Given the description of an element on the screen output the (x, y) to click on. 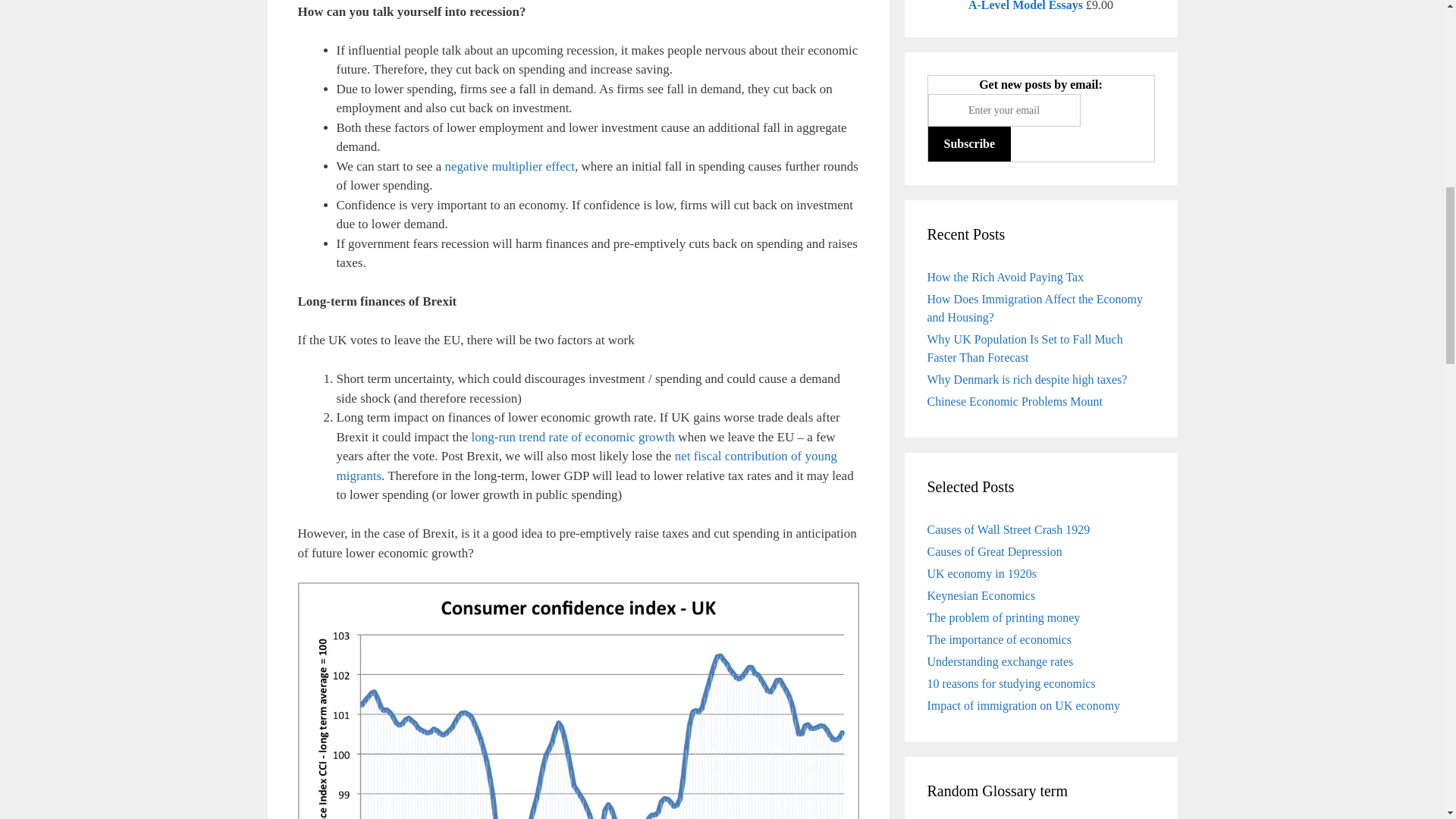
long-run trend rate of economic growth (572, 436)
negative multiplier effect (510, 165)
Scroll back to top (1406, 530)
net fiscal contribution of young migrants (587, 465)
